Given the description of an element on the screen output the (x, y) to click on. 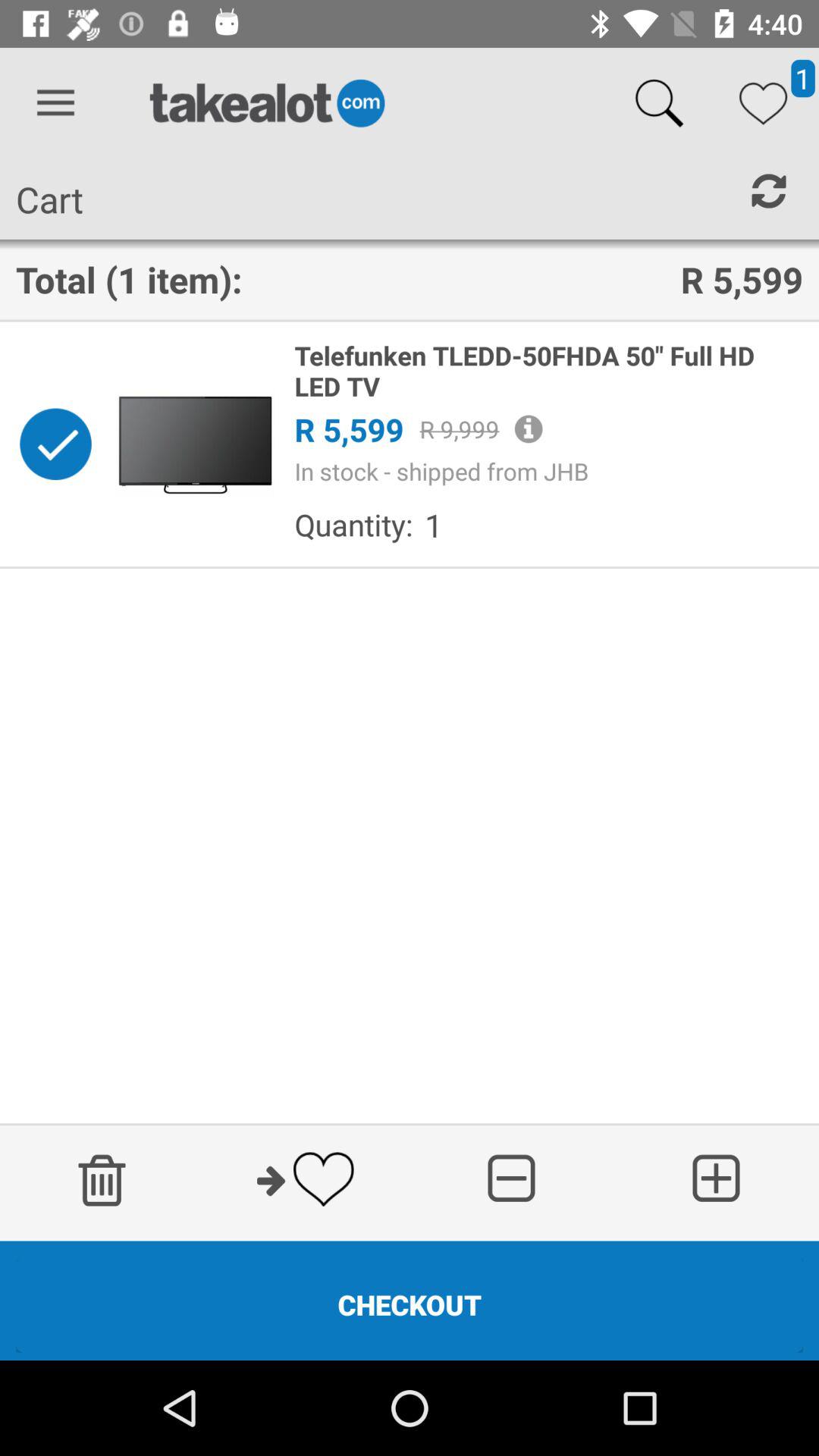
jump until in stock shipped item (548, 471)
